Given the description of an element on the screen output the (x, y) to click on. 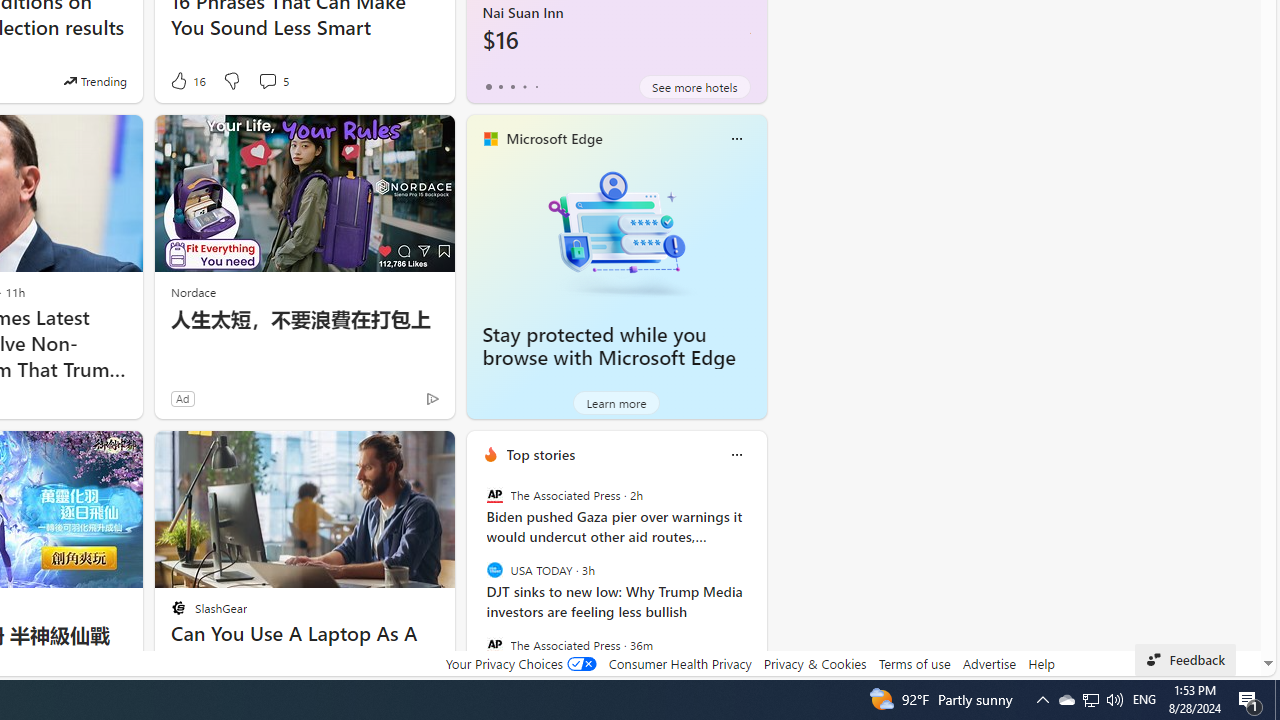
Ad (182, 398)
tab-4 (535, 86)
See more (429, 454)
Help (1040, 663)
Privacy & Cookies (814, 663)
16 Like (186, 80)
View comments 5 Comment (272, 80)
Ad Choice (432, 398)
Advertise (989, 663)
Hide this story (393, 454)
This story is trending (95, 80)
Dislike (230, 80)
